Given the description of an element on the screen output the (x, y) to click on. 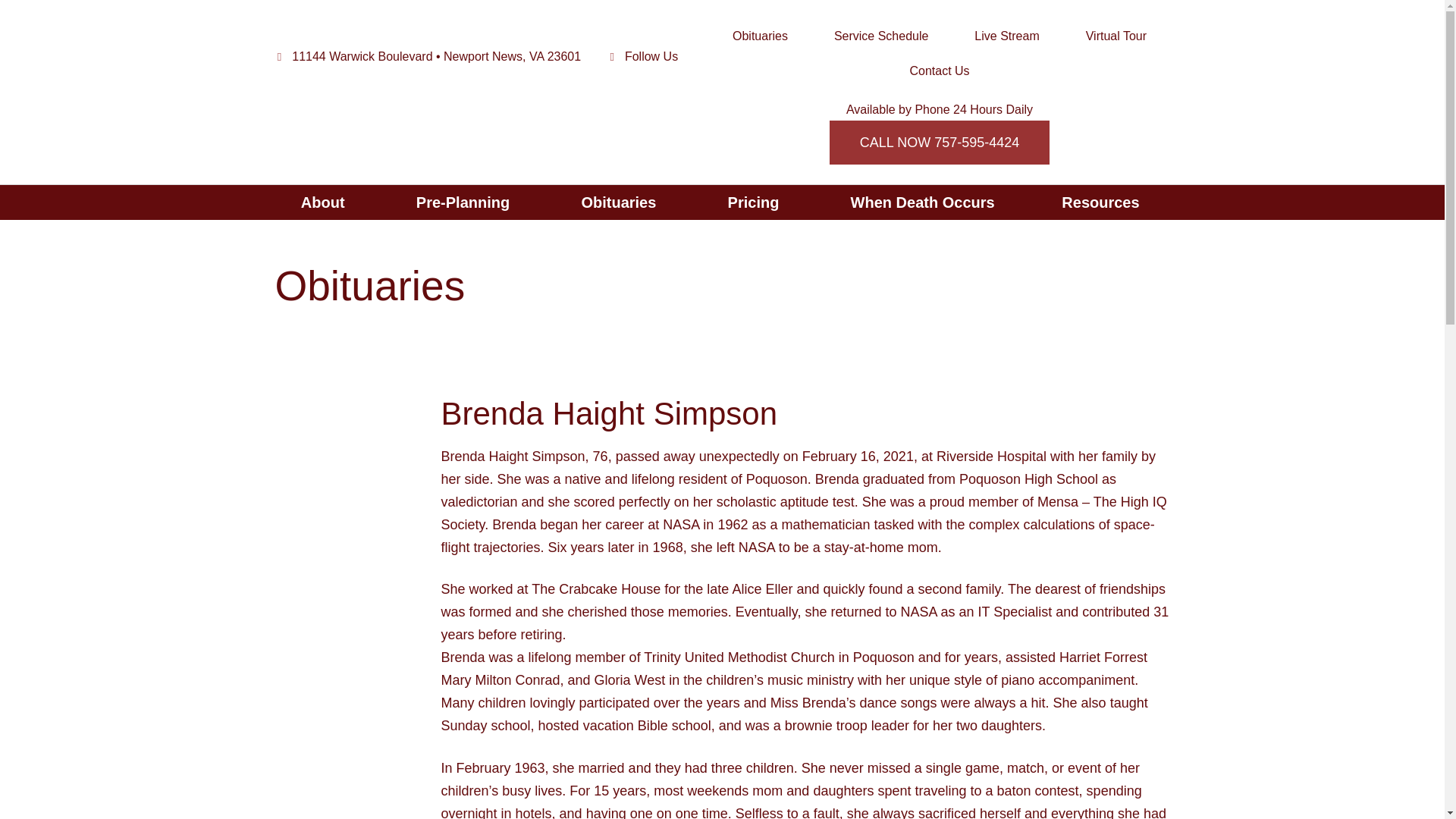
Service Schedule (880, 36)
When Death Occurs (921, 202)
Live Stream (1007, 36)
Obituaries (760, 36)
Virtual Tour (1115, 36)
Contact Us (755, 202)
CALL NOW 757-595-4424 (620, 202)
